Given the description of an element on the screen output the (x, y) to click on. 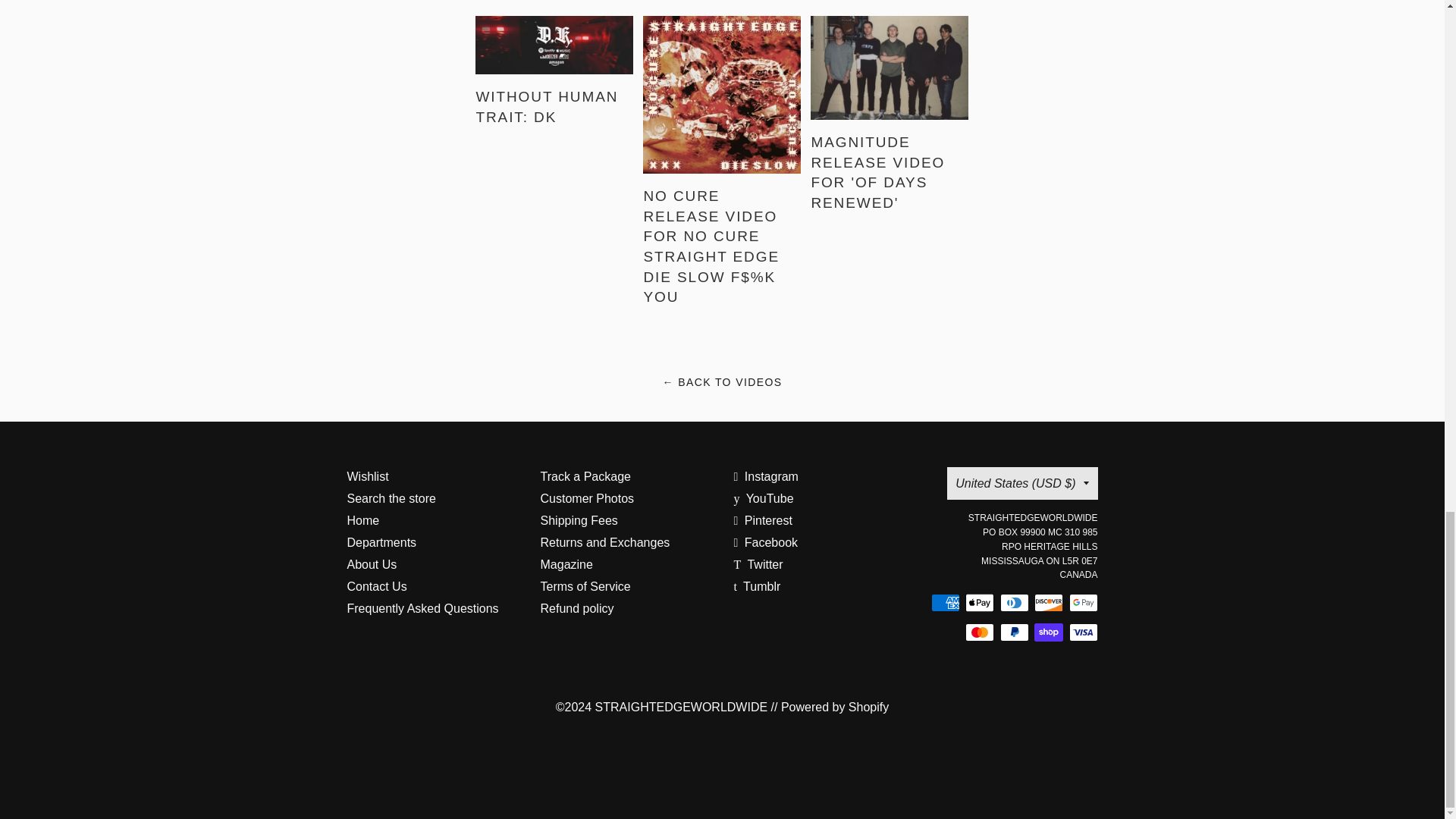
STRAIGHTEDGEWORLDWIDE on YouTube (763, 498)
American Express (945, 602)
Shop Pay (1047, 632)
Diners Club (1012, 602)
STRAIGHTEDGEWORLDWIDE on Tumblr (756, 585)
Visa (1082, 632)
Google Pay (1082, 602)
STRAIGHTEDGEWORLDWIDE on Facebook (765, 542)
Mastercard (979, 632)
Apple Pay (979, 602)
